Given the description of an element on the screen output the (x, y) to click on. 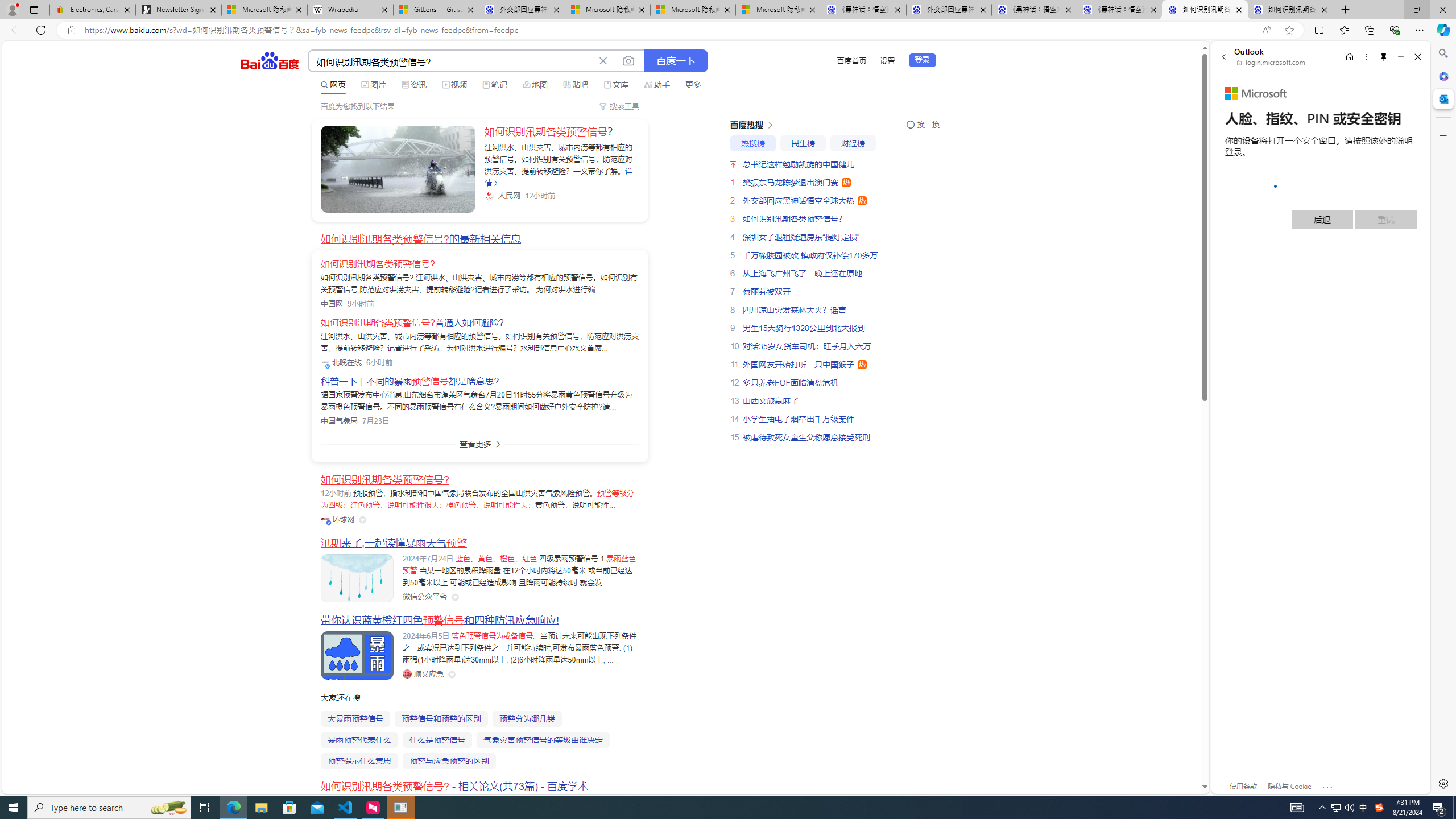
Class: sc-link _link_kwqvb_2 -v-color-primary block (398, 168)
